Given the description of an element on the screen output the (x, y) to click on. 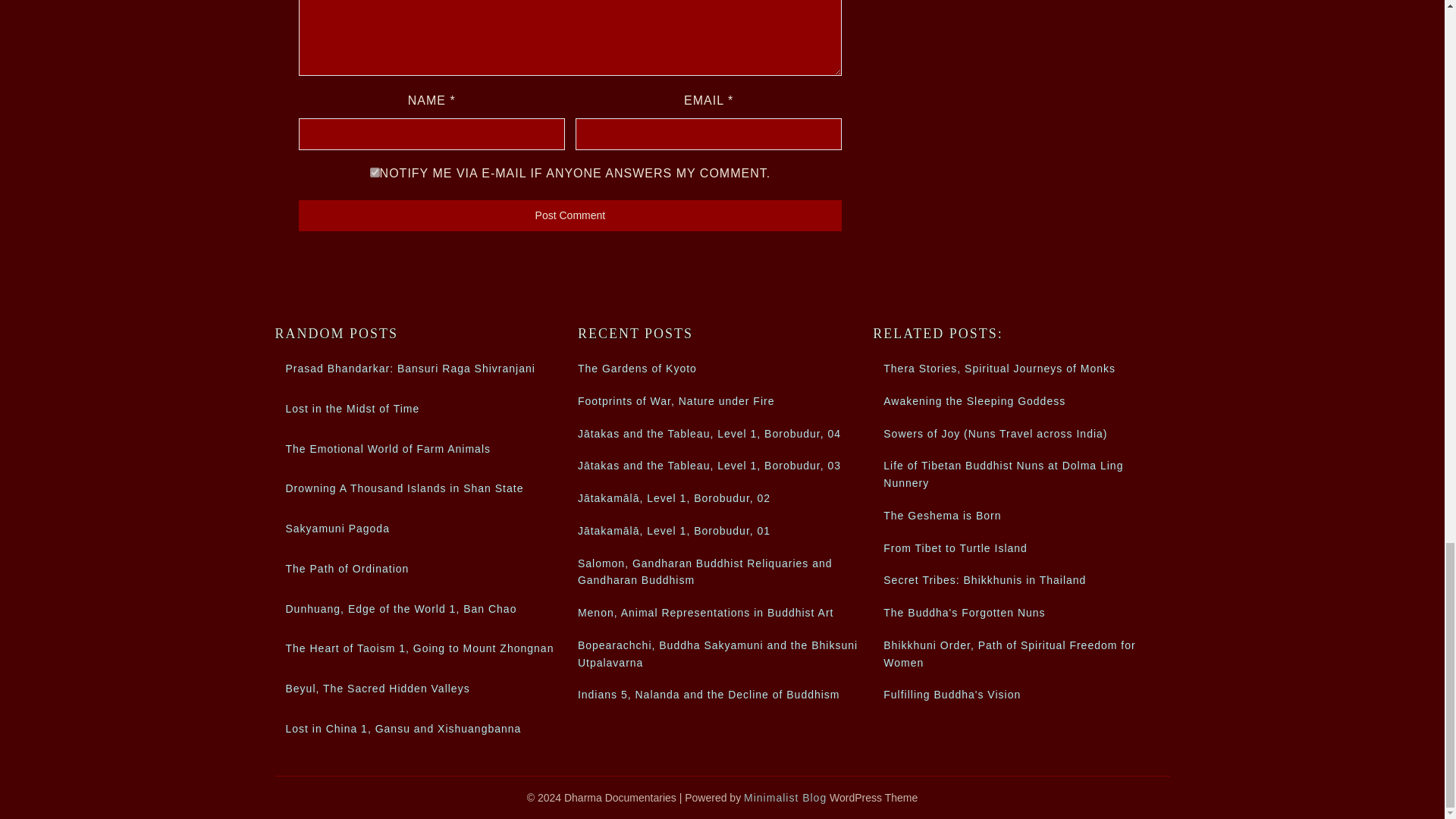
Post Comment (570, 214)
on (374, 172)
Lost in the Midst of Time (352, 408)
Post Comment (570, 214)
Prasad Bhandarkar: Bansuri Raga Shivranjani (409, 368)
